Given the description of an element on the screen output the (x, y) to click on. 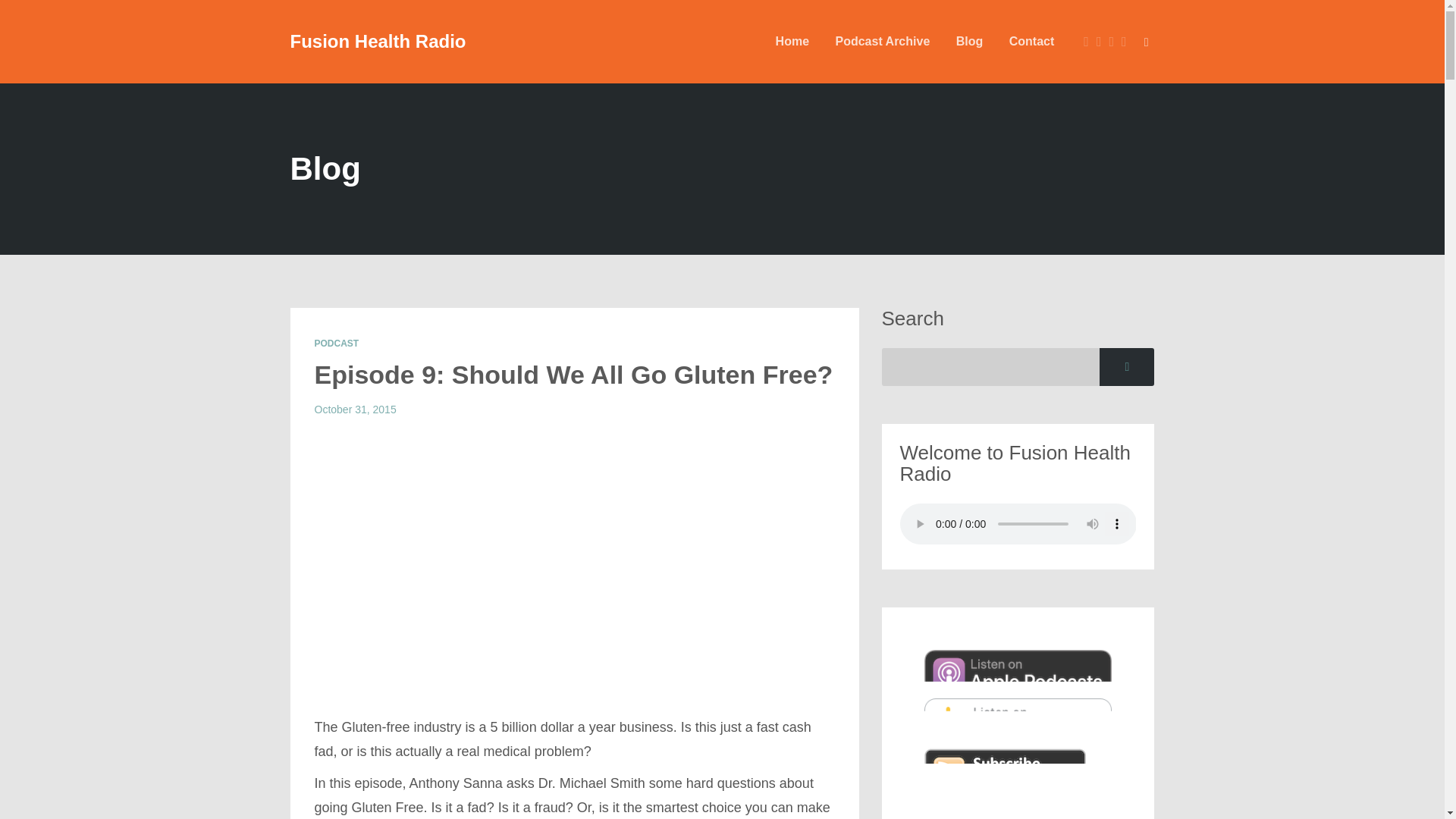
Fusion Health Radio (377, 41)
PODCAST (336, 343)
Fusion Health Radio (377, 41)
October 31, 2015 (355, 409)
Episode 9: Should We All Go Gluten Free? (573, 374)
Podcast Archive (882, 41)
Permalink to Episode 9: Should We All Go Gluten Free? (573, 374)
